Given the description of an element on the screen output the (x, y) to click on. 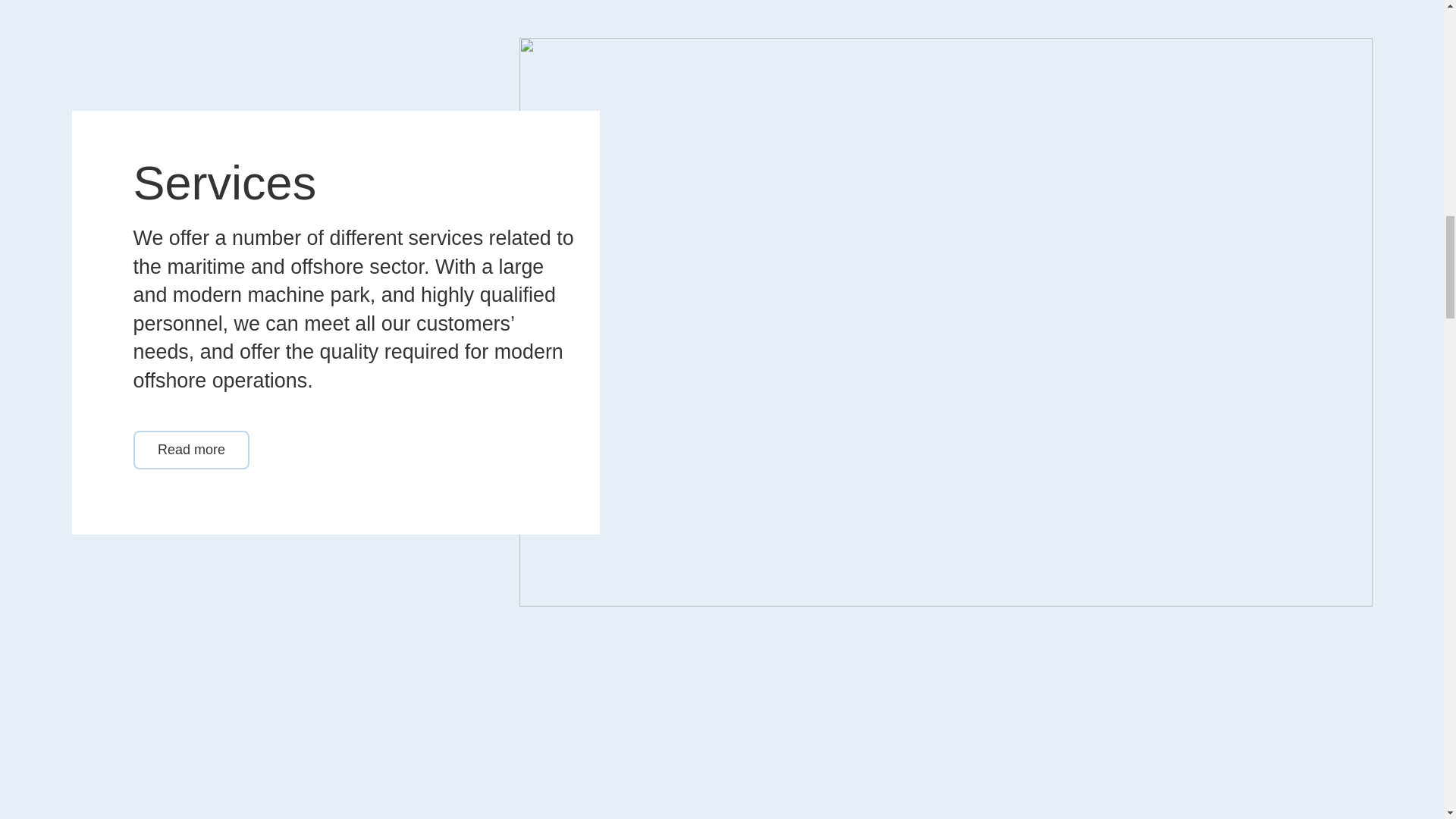
Read more (191, 449)
